Given the description of an element on the screen output the (x, y) to click on. 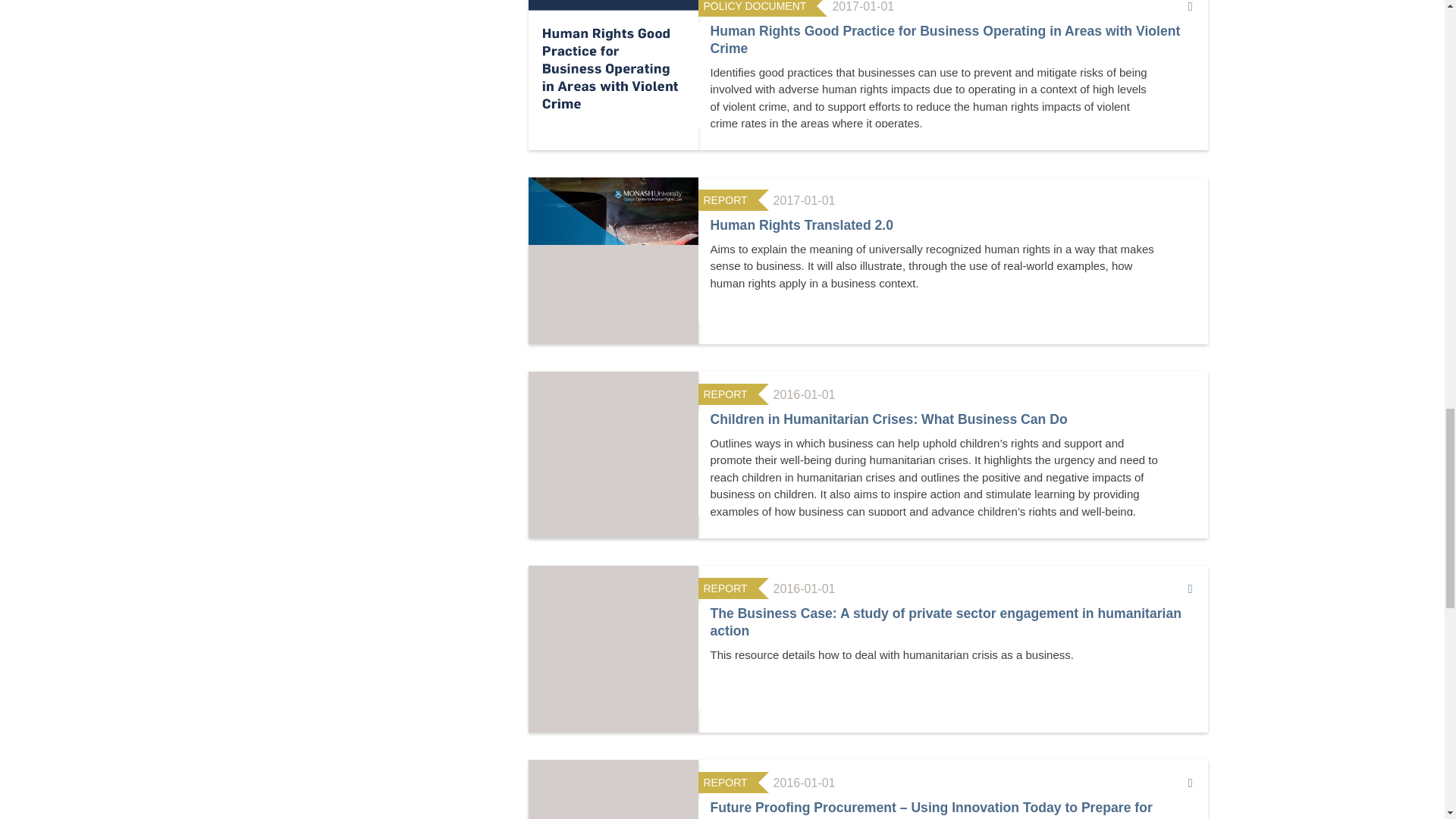
translation missing: en.report (725, 394)
translation missing: en.report (725, 588)
translation missing: en.report (725, 200)
